Given the description of an element on the screen output the (x, y) to click on. 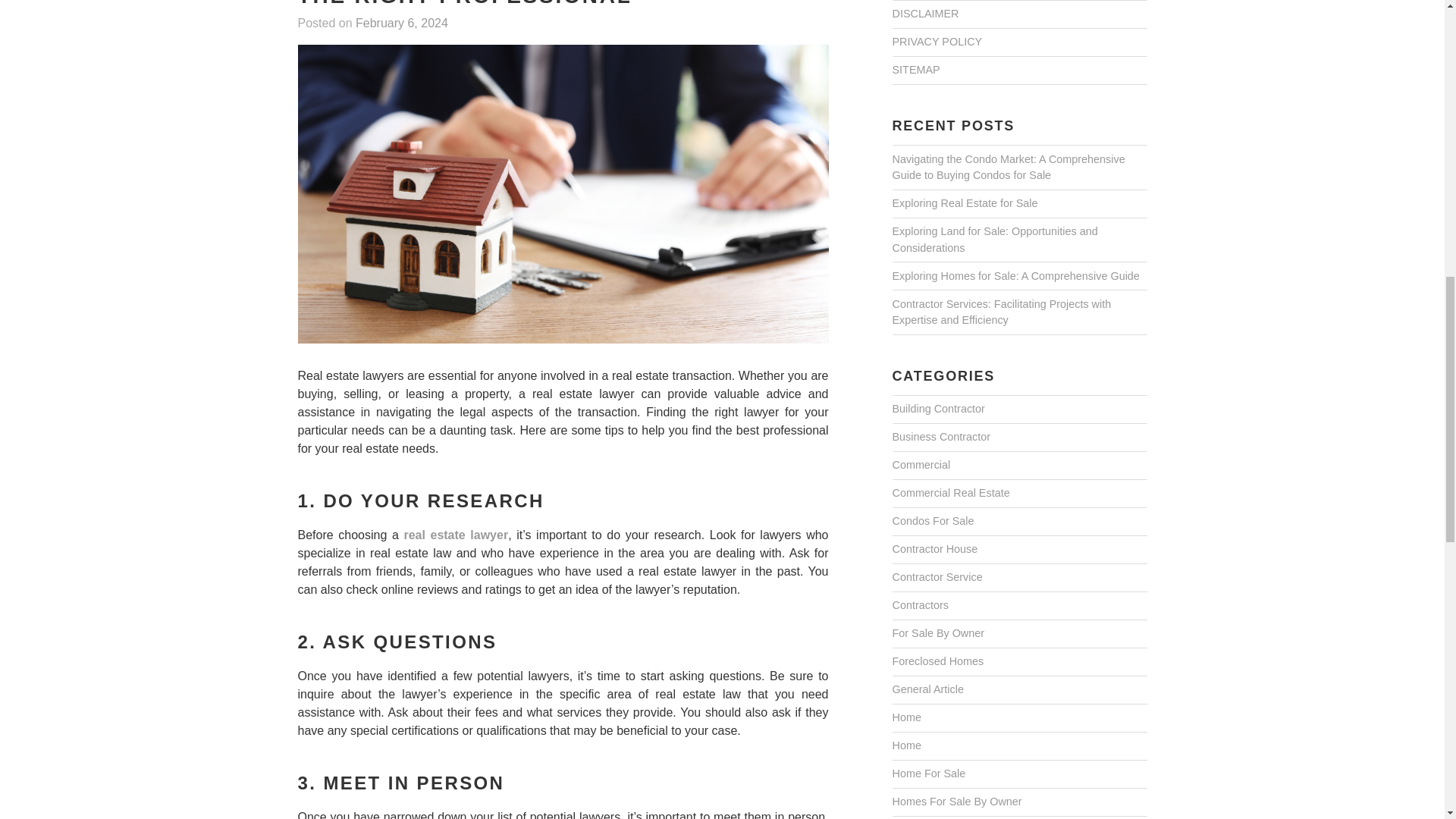
real estate lawyer (455, 535)
February 6, 2024 (401, 23)
REAL ESTATE LAWYER: TIPS FOR FINDING THE RIGHT PROFESSIONAL (562, 4)
DISCLAIMER (924, 14)
SITEMAP (915, 69)
PRIVACY POLICY (936, 42)
